Given the description of an element on the screen output the (x, y) to click on. 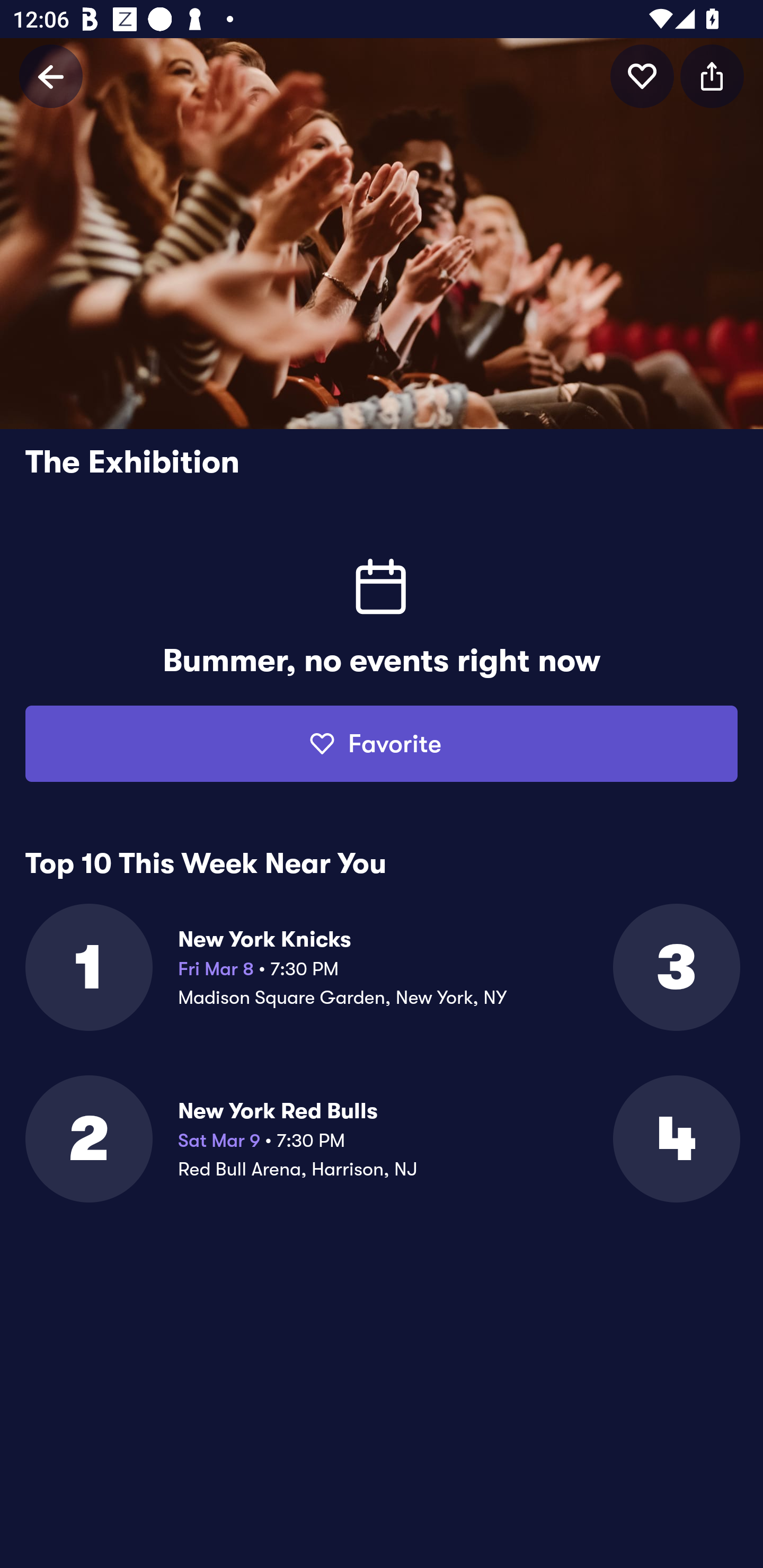
Back (50, 75)
icon button (641, 75)
icon button (711, 75)
Favorite (381, 743)
3 (675, 967)
4 (675, 1138)
